Given the description of an element on the screen output the (x, y) to click on. 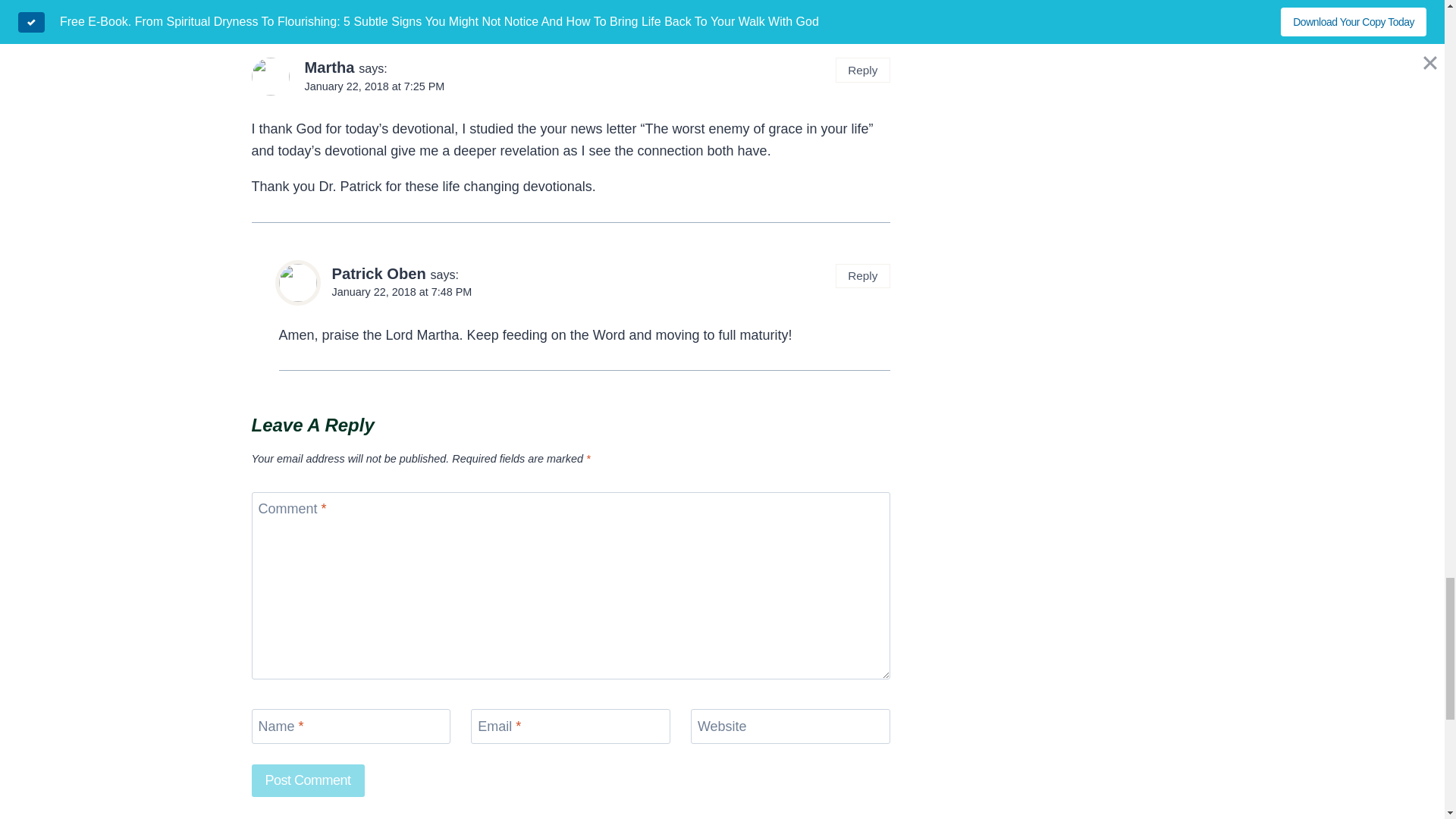
Post Comment (308, 780)
